Given the description of an element on the screen output the (x, y) to click on. 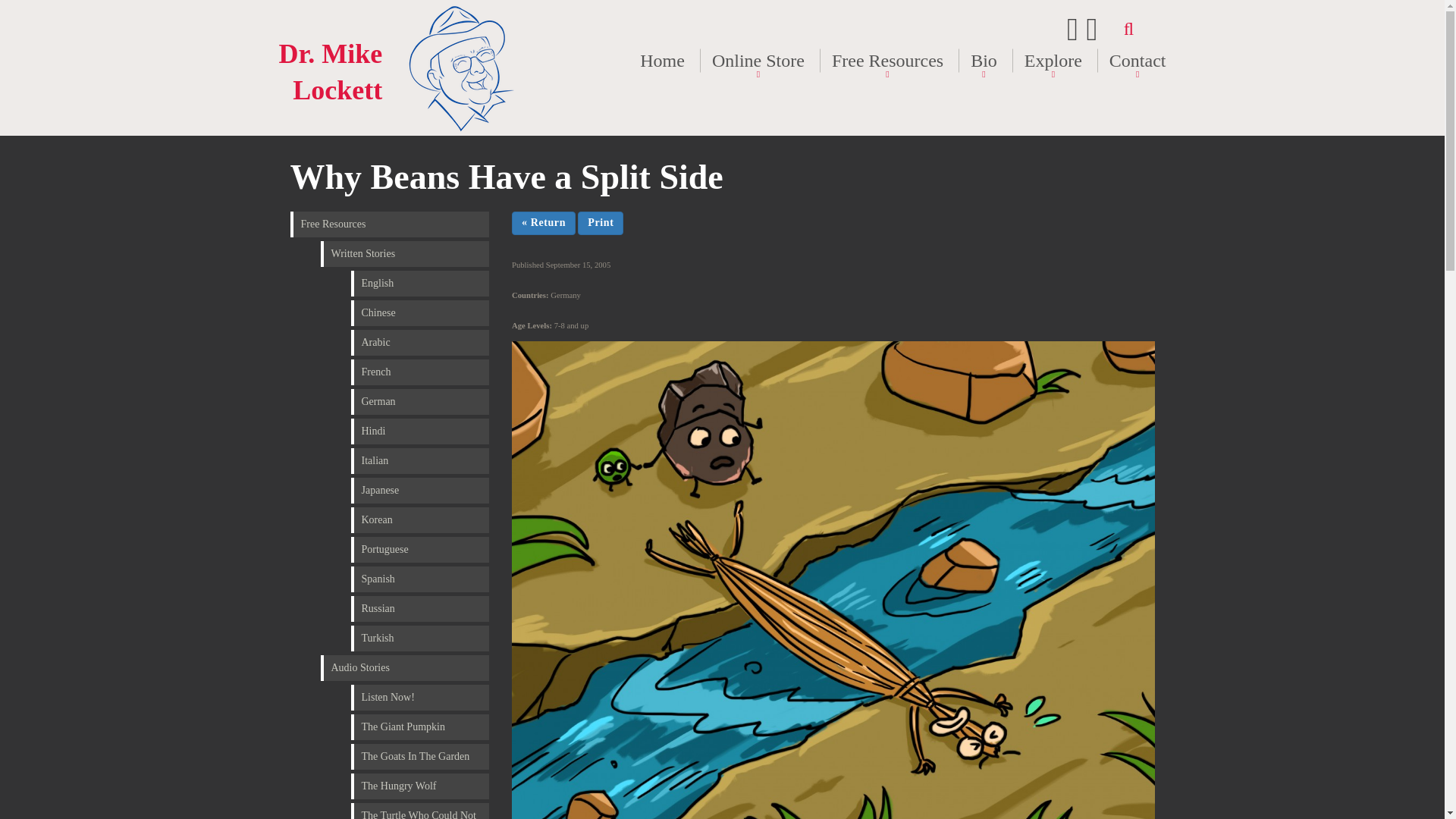
Free Resources (887, 60)
Home (662, 60)
Online Store (758, 60)
